Given the description of an element on the screen output the (x, y) to click on. 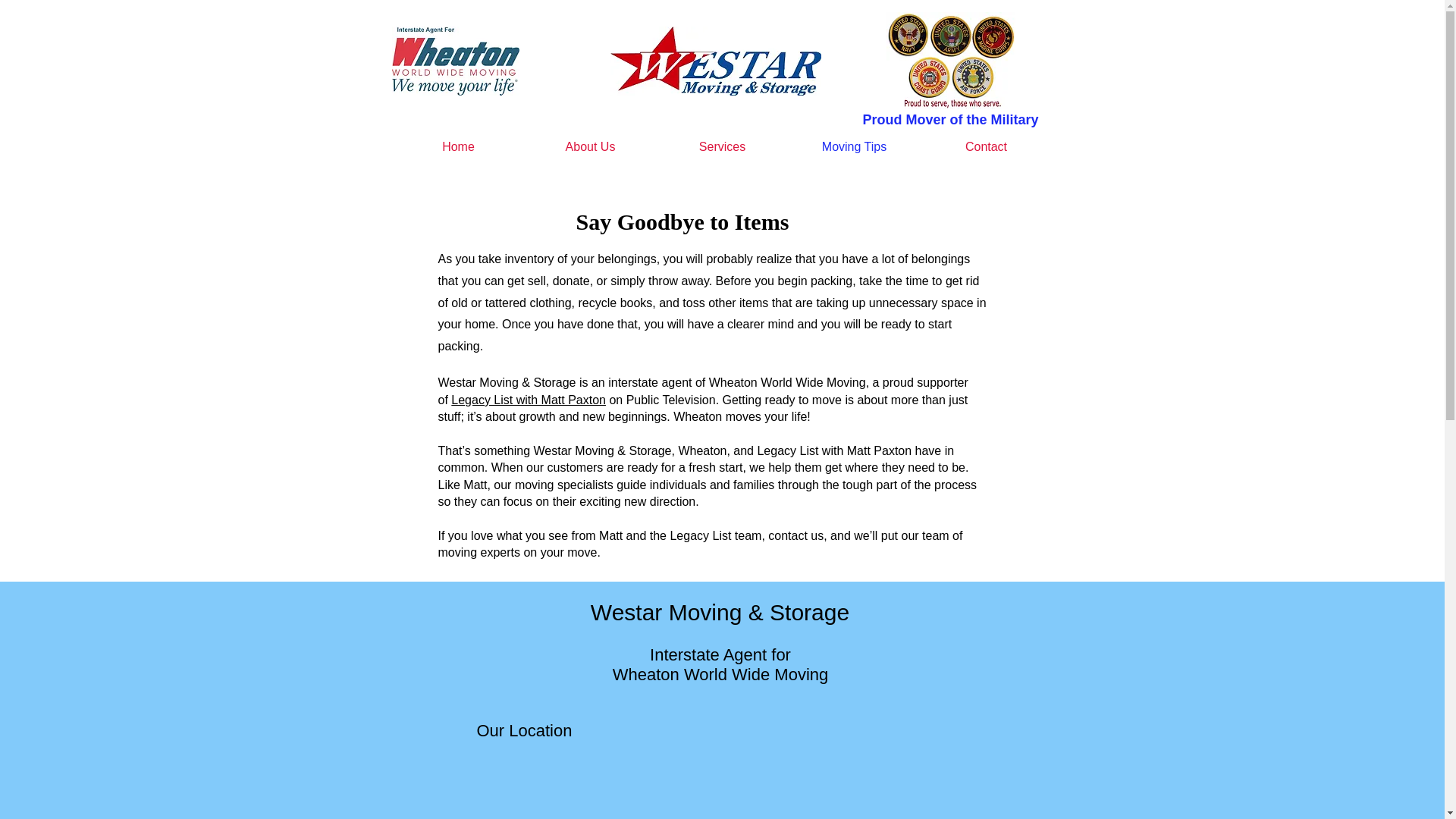
Legacy List with Matt Paxton (528, 399)
Moving Tips (854, 146)
About Us (590, 146)
Proud Mover of the Military (949, 119)
Home (458, 146)
Services (722, 146)
Contact (986, 146)
